Given the description of an element on the screen output the (x, y) to click on. 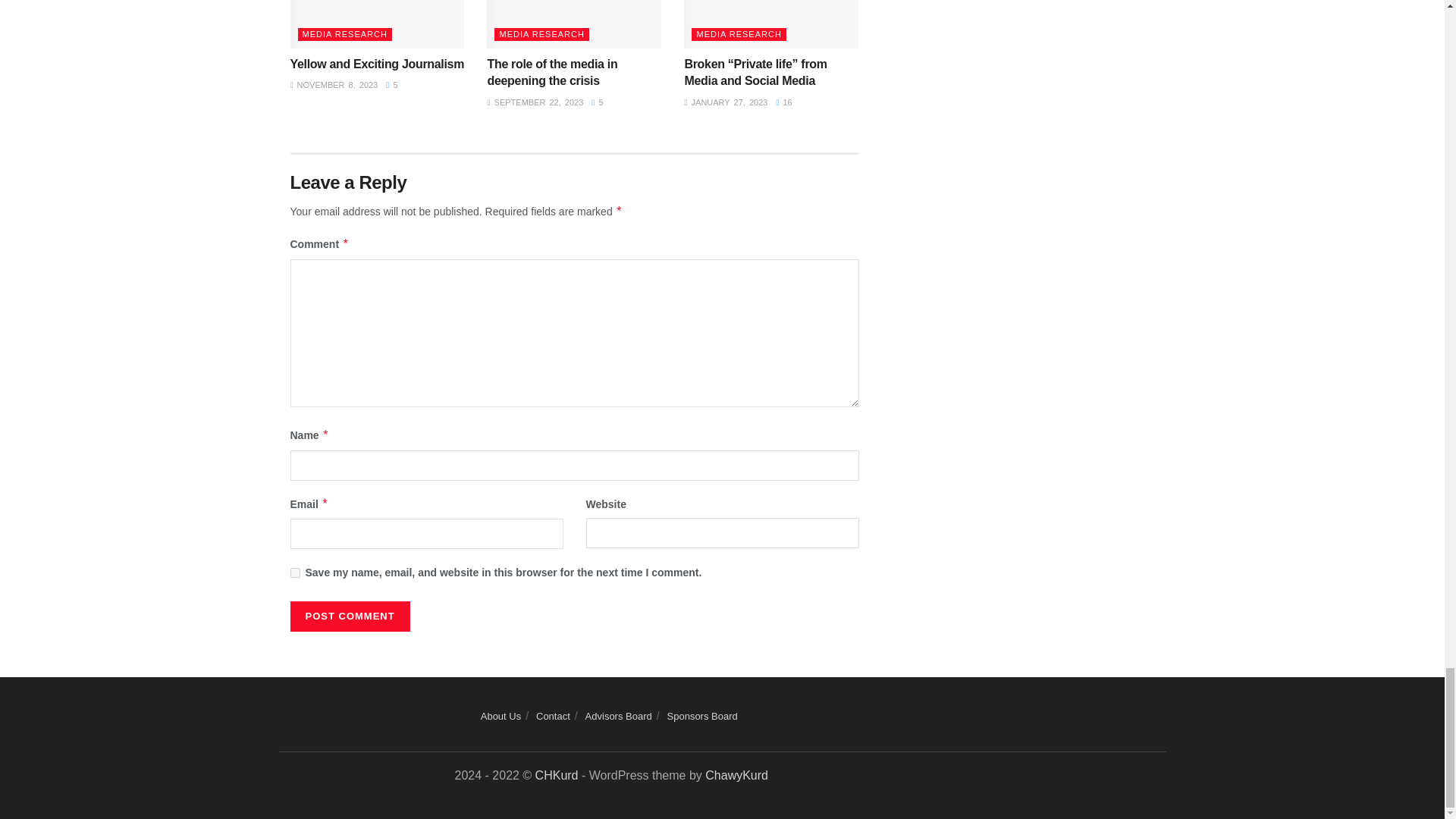
Post Comment (349, 616)
ChawyKurd (736, 775)
 WordPress theme  (556, 775)
yes (294, 573)
